Given the description of an element on the screen output the (x, y) to click on. 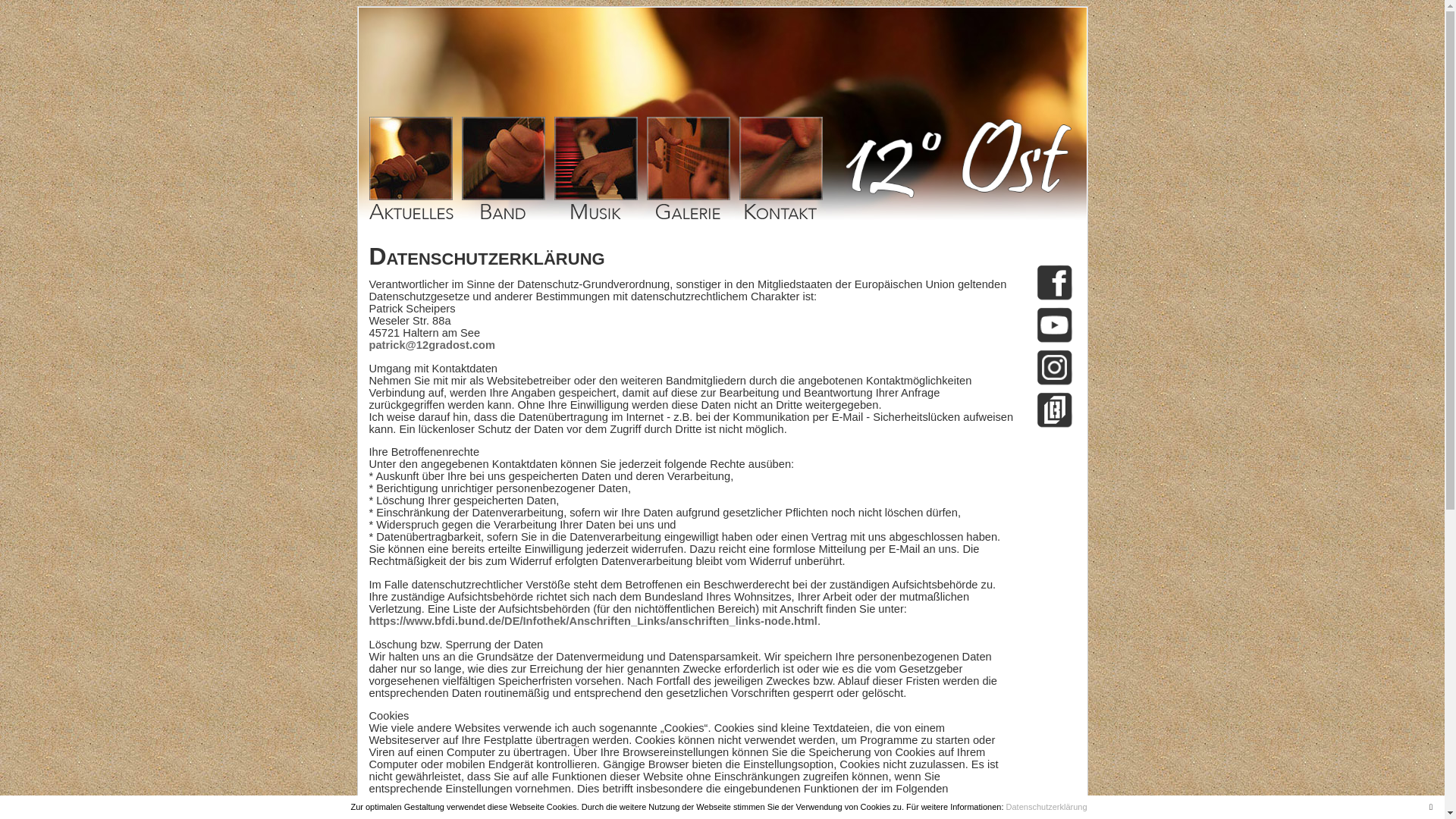
patrick@12gradost.com Element type: text (431, 344)
